Given the description of an element on the screen output the (x, y) to click on. 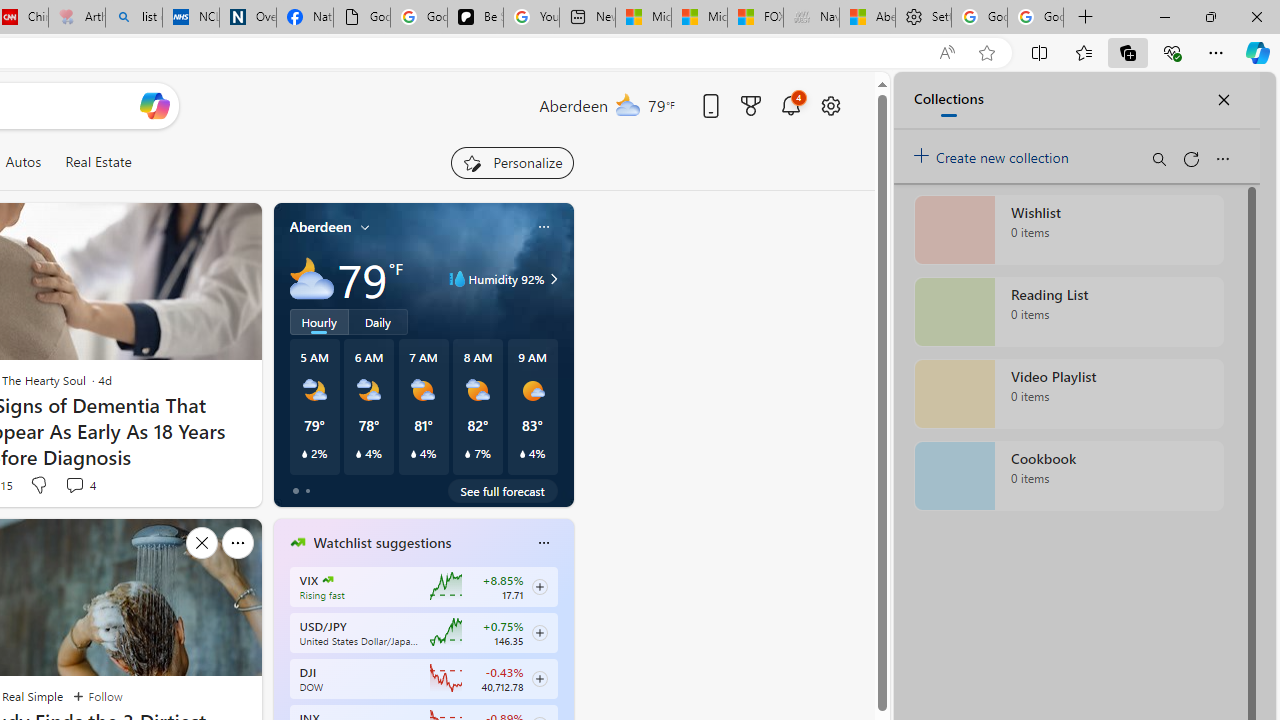
Watchlist suggestions (382, 543)
Class: icon-img (543, 542)
next (563, 670)
Autos (22, 161)
tab-1 (306, 490)
